Given the description of an element on the screen output the (x, y) to click on. 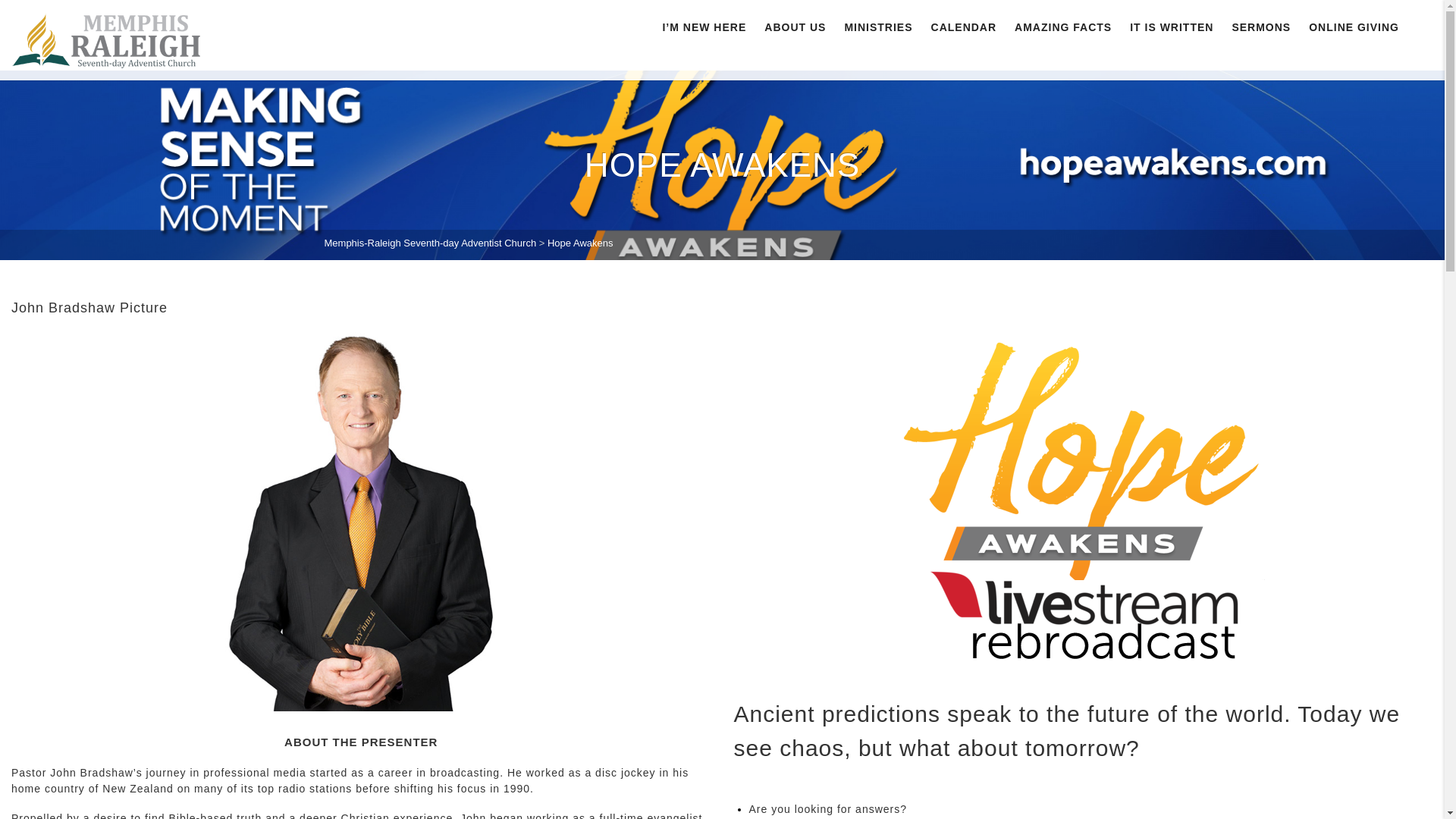
Go to Memphis-Raleigh Seventh-day  Adventist Church. (430, 242)
AMAZING FACTS (1063, 27)
MINISTRIES (877, 27)
Memphis-Raleigh Seventh-day Adventist Church (430, 242)
ABOUT US (794, 27)
Memphis Raleigh Seventh-day Adventist Logo (105, 39)
SERMONS (1261, 27)
IT IS WRITTEN (1172, 27)
ONLINE GIVING (1349, 27)
CALENDAR (963, 27)
